Given the description of an element on the screen output the (x, y) to click on. 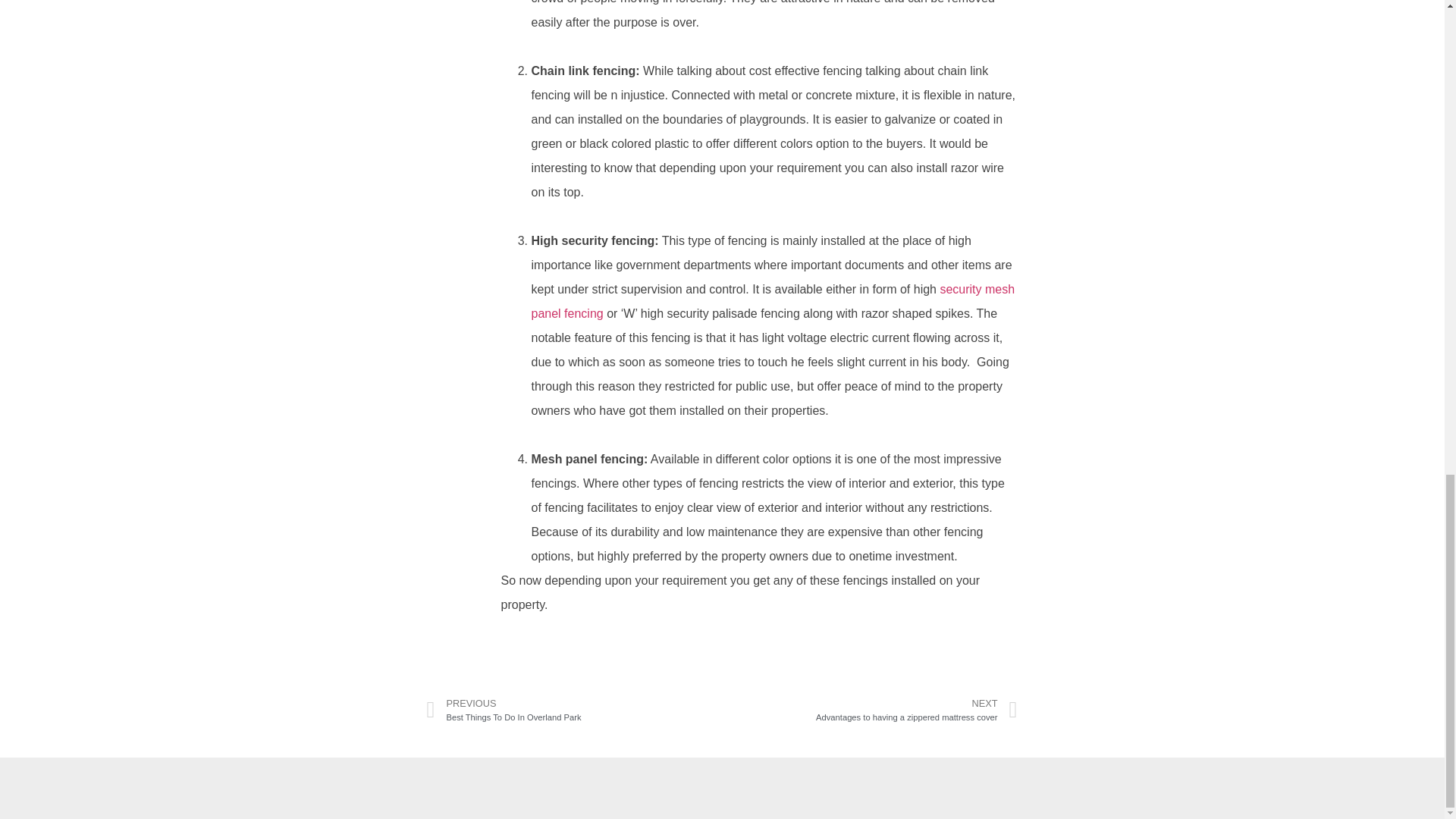
security mesh panel fencing (772, 301)
